Given the description of an element on the screen output the (x, y) to click on. 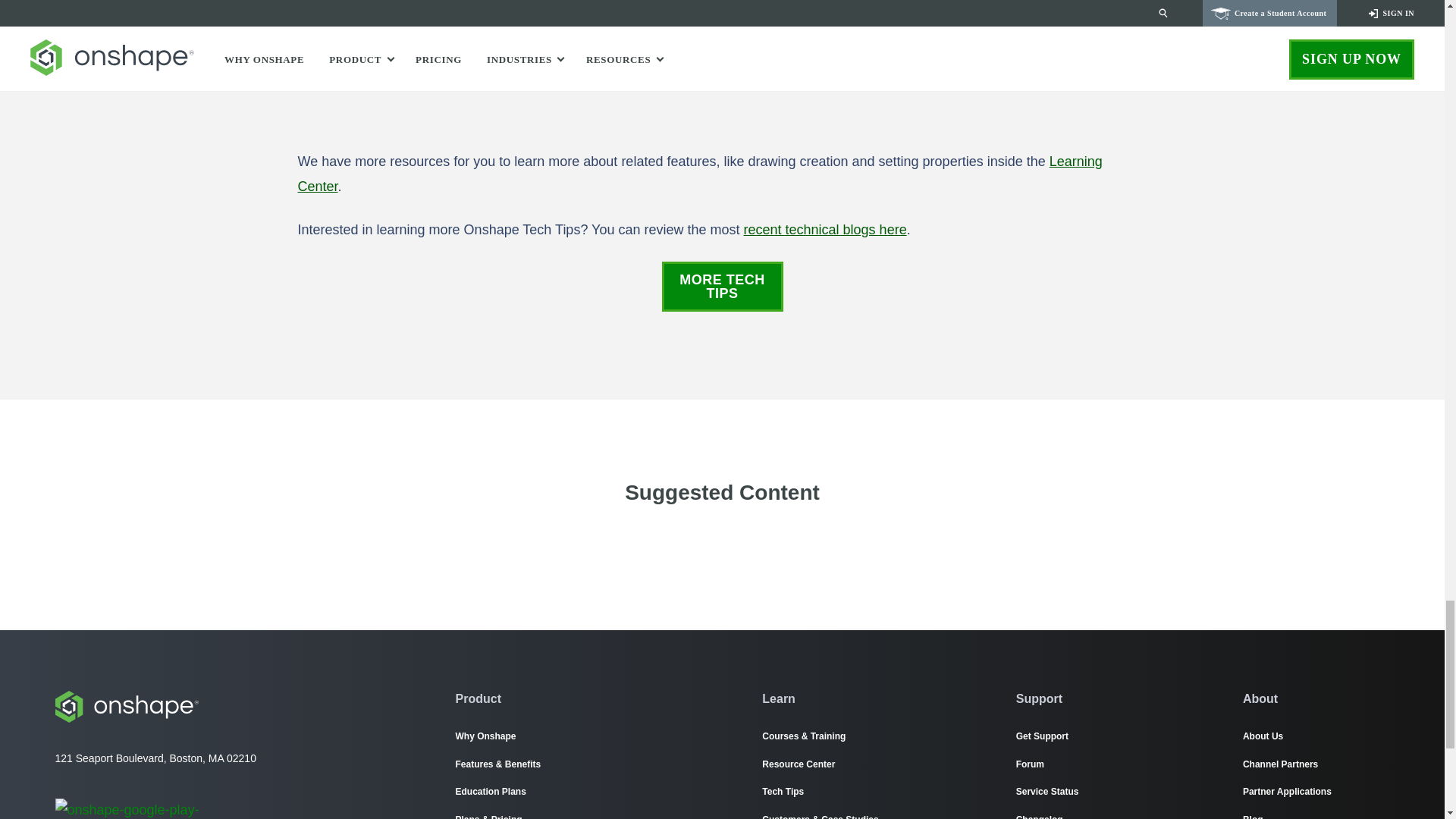
Tech Tip Change Drawing View Properties Video (722, 65)
